Given the description of an element on the screen output the (x, y) to click on. 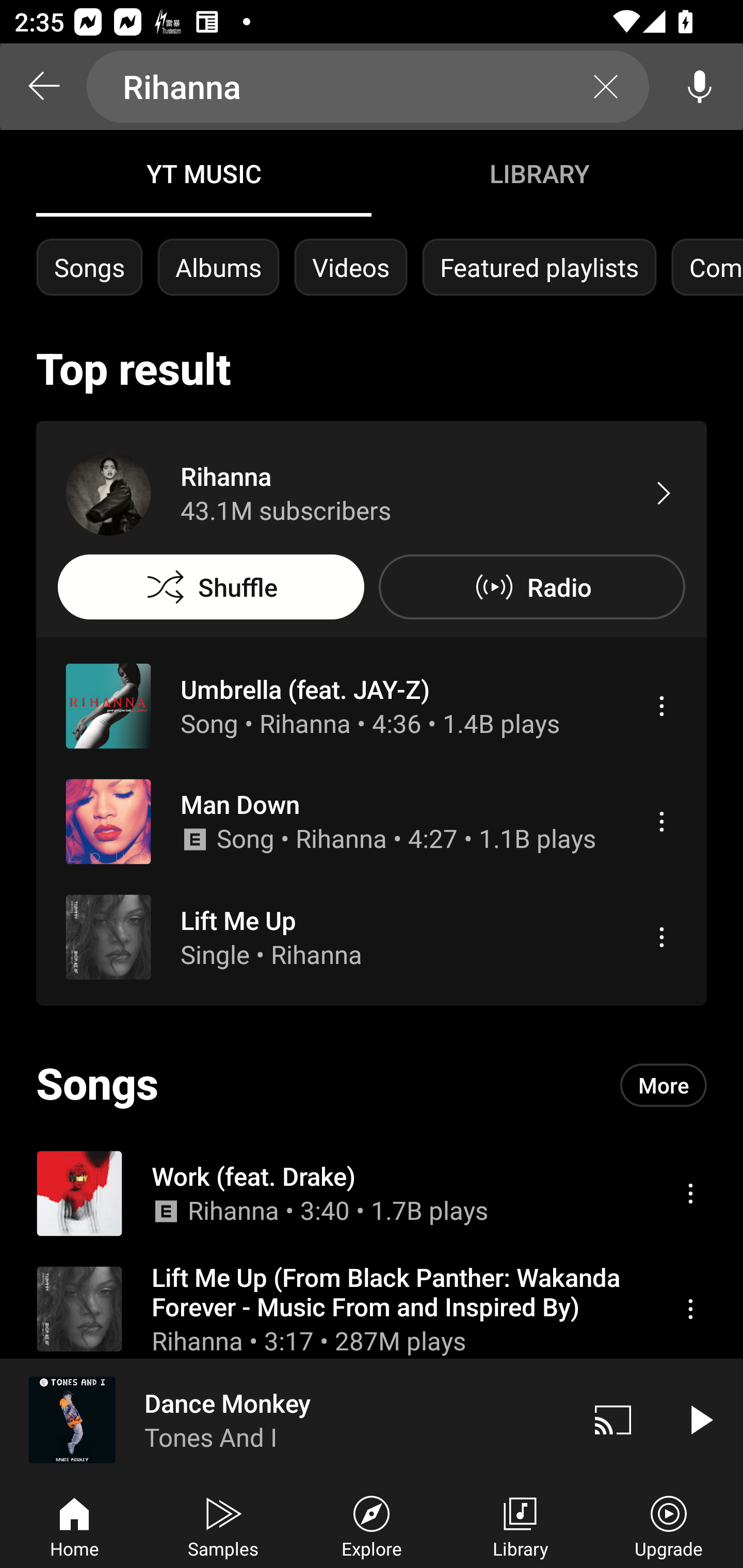
Search back (43, 86)
Rihanna (367, 86)
Clear search (605, 86)
Voice search (699, 86)
Library LIBRARY (538, 173)
Shuffle (210, 587)
Radio (531, 587)
Menu (661, 705)
Menu (661, 821)
Menu (661, 937)
Songs More More (371, 1084)
More (663, 1085)
Menu (690, 1193)
Menu (690, 1309)
Dance Monkey Tones And I (284, 1419)
Cast. Disconnected (612, 1419)
Play video (699, 1419)
Home (74, 1524)
Samples (222, 1524)
Explore (371, 1524)
Library (519, 1524)
Upgrade (668, 1524)
